Given the description of an element on the screen output the (x, y) to click on. 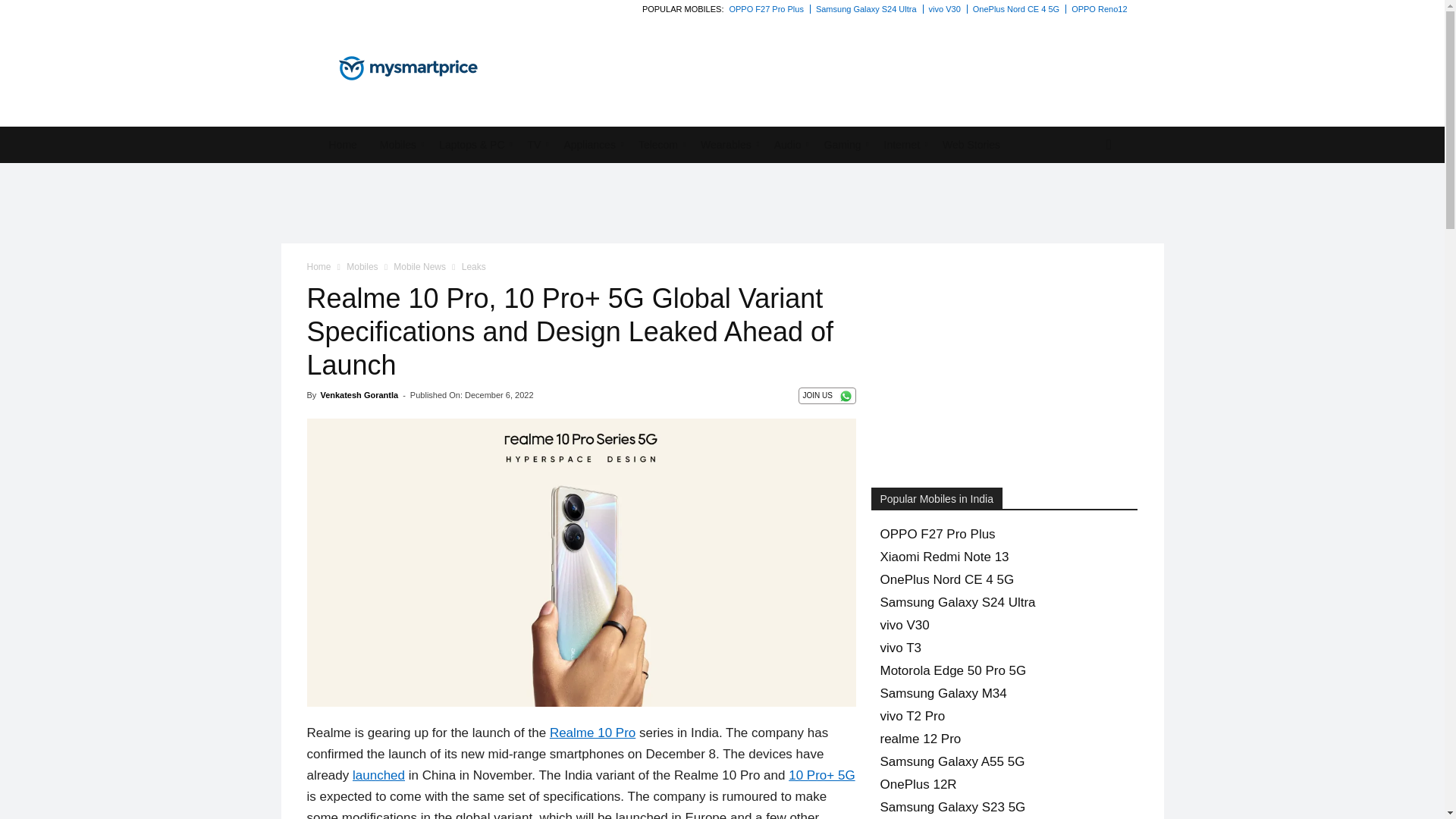
MySmartPrice News (407, 68)
3rd party ad content (1020, 56)
3rd party ad content (721, 202)
